Given the description of an element on the screen output the (x, y) to click on. 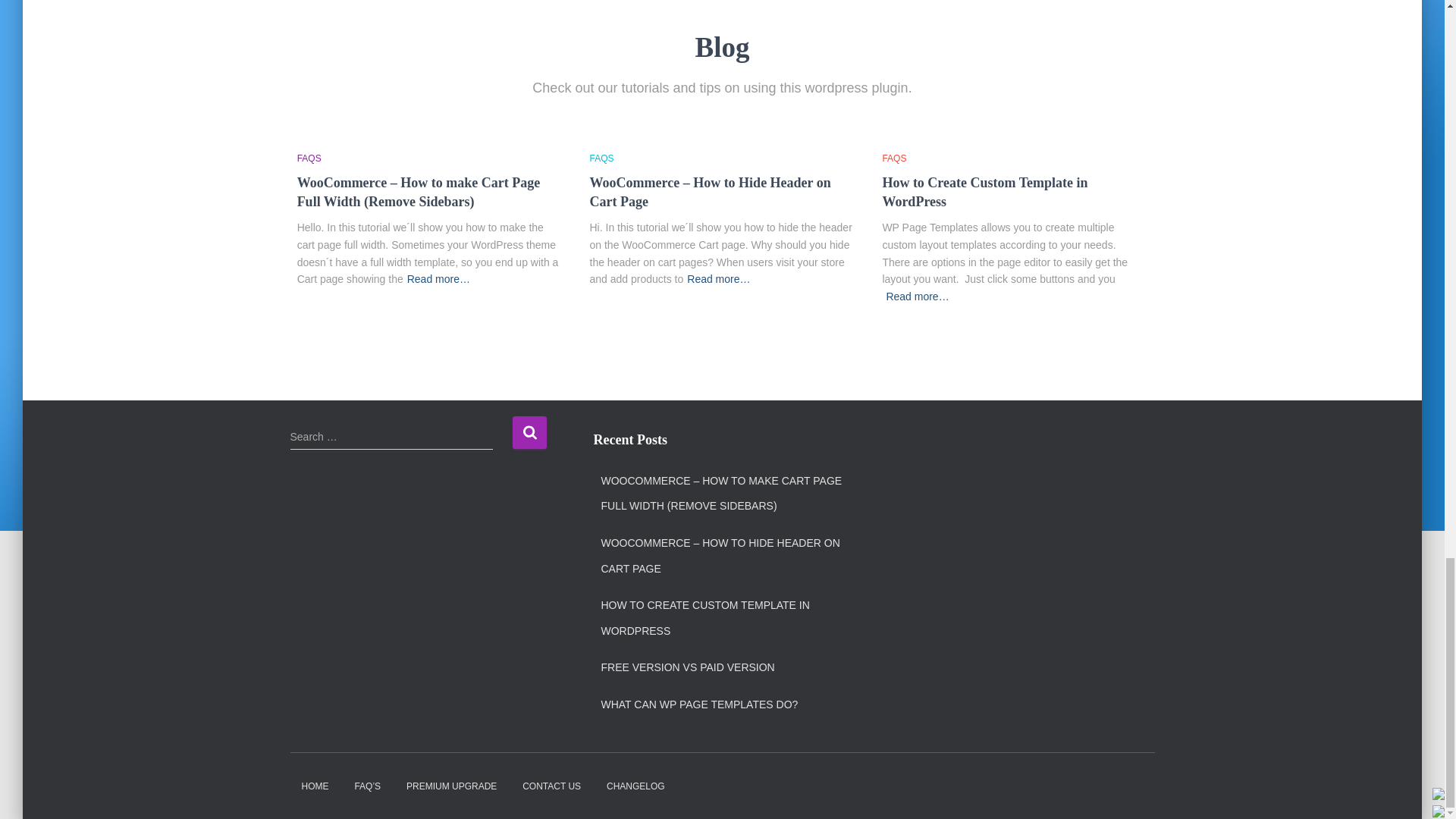
CONTACT US (551, 786)
WHAT CAN WP PAGE TEMPLATES DO? (698, 704)
View all posts in FAQs (893, 158)
HOME (314, 786)
HOW TO CREATE CUSTOM TEMPLATE IN WORDPRESS (724, 617)
PREMIUM UPGRADE (451, 786)
FAQS (893, 158)
FREE VERSION VS PAID VERSION (686, 667)
How to Create Custom Template in WordPress (984, 192)
FAQS (309, 158)
FAQS (601, 158)
How to Create Custom Template in WordPress (984, 192)
CHANGELOG (636, 786)
View all posts in FAQs (309, 158)
Search (529, 432)
